Given the description of an element on the screen output the (x, y) to click on. 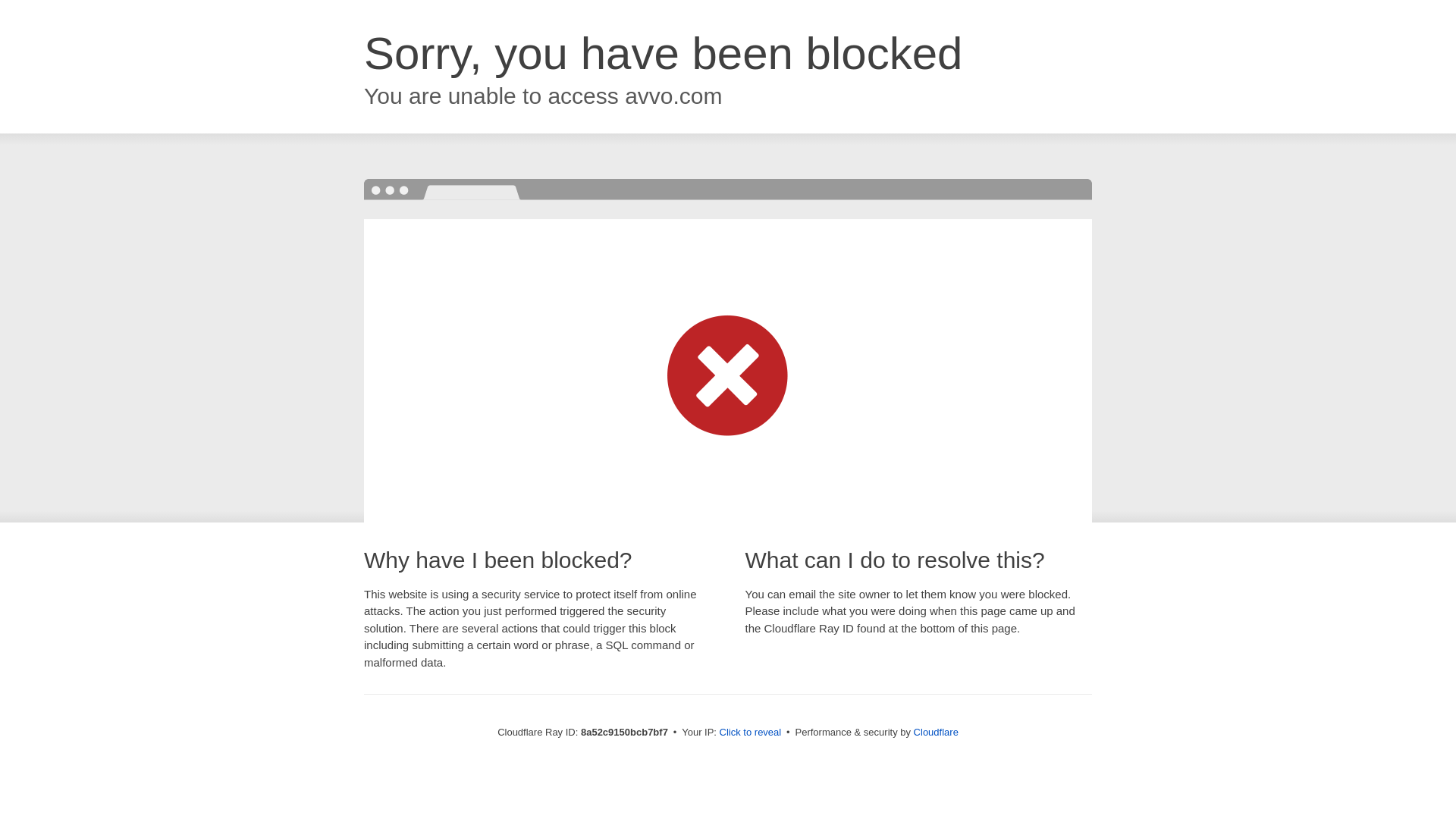
Click to reveal (750, 732)
Cloudflare (936, 731)
